Given the description of an element on the screen output the (x, y) to click on. 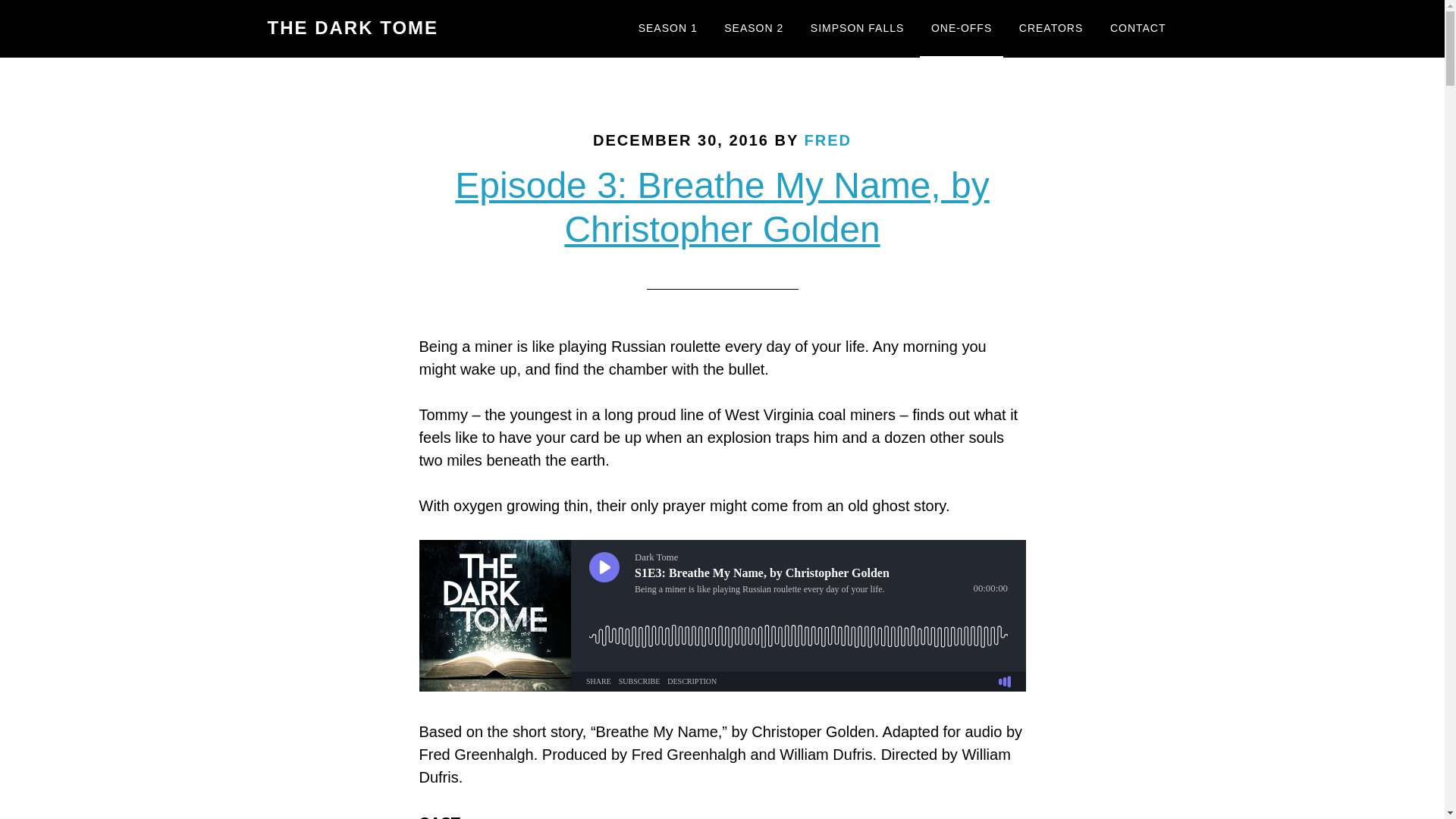
SIMPSON FALLS (857, 28)
CONTACT (1138, 28)
THE DARK TOME (352, 27)
ONE-OFFS (961, 28)
SEASON 1 (668, 28)
Episode 3: Breathe My Name, by Christopher Golden (721, 207)
CREATORS (1050, 28)
SEASON 2 (753, 28)
FRED (826, 139)
